Given the description of an element on the screen output the (x, y) to click on. 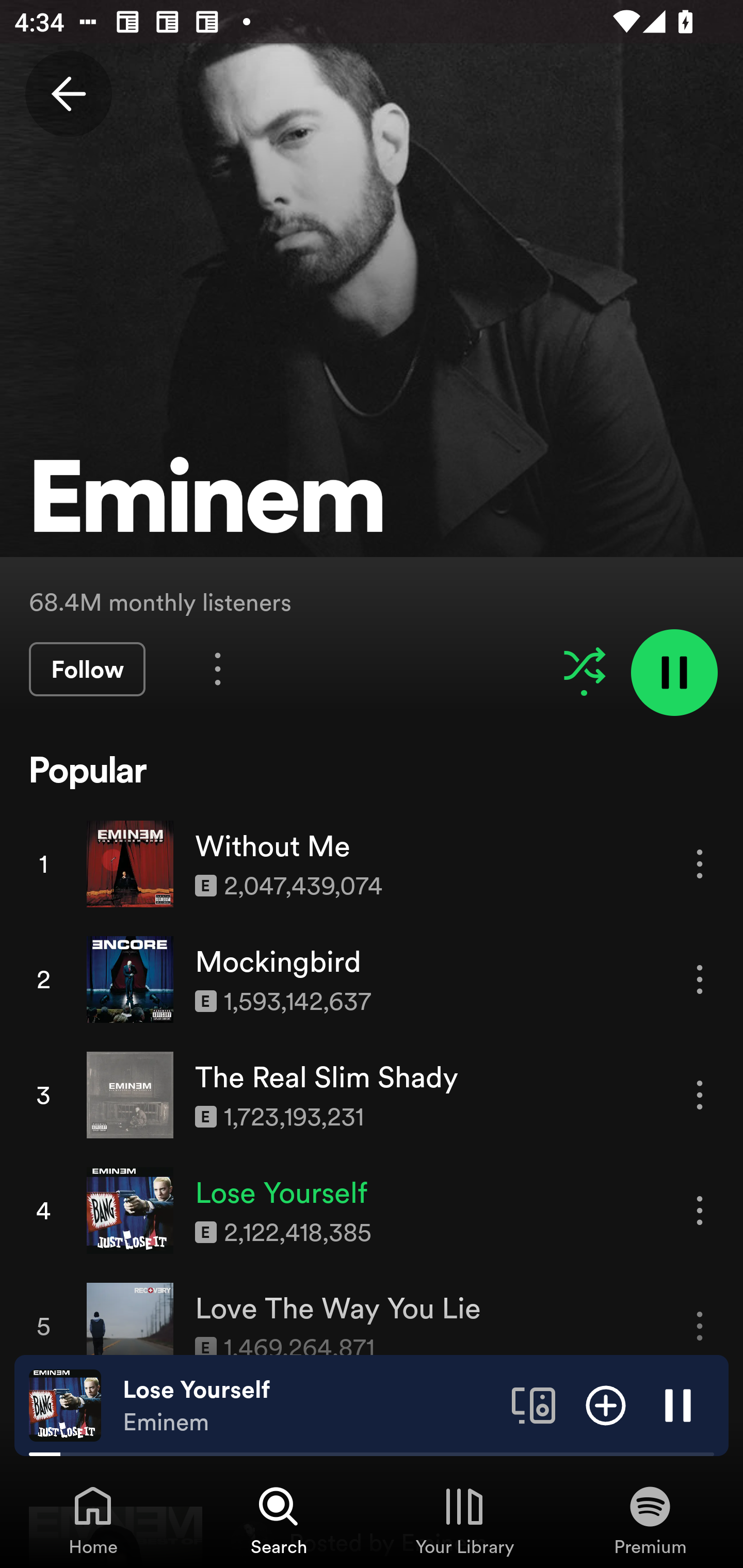
Back (68, 93)
Disable shuffle for this artist (583, 665)
More options for artist Eminem (217, 668)
Pause artist (674, 672)
Follow (86, 669)
More options for song Without Me (699, 863)
More options for song Mockingbird (699, 979)
More options for song The Real Slim Shady (699, 1095)
More options for song Lose Yourself (699, 1210)
More options for song Love The Way You Lie (699, 1325)
Lose Yourself Eminem (309, 1405)
The cover art of the currently playing track (64, 1404)
Connect to a device. Opens the devices menu (533, 1404)
Add item (605, 1404)
Pause (677, 1404)
Home, Tab 1 of 4 Home Home (92, 1519)
Search, Tab 2 of 4 Search Search (278, 1519)
Your Library, Tab 3 of 4 Your Library Your Library (464, 1519)
Premium, Tab 4 of 4 Premium Premium (650, 1519)
